Given the description of an element on the screen output the (x, y) to click on. 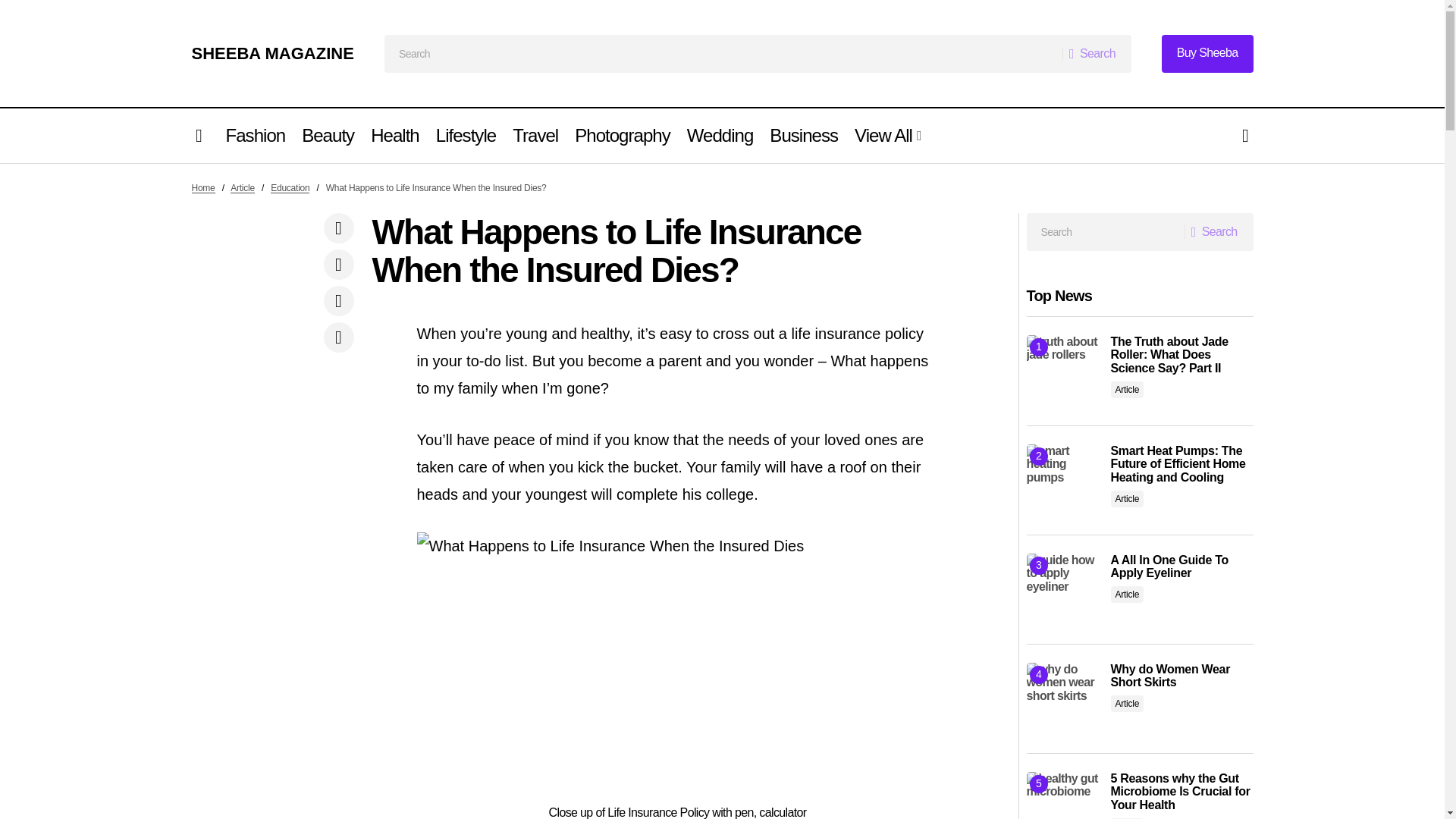
Share in Telegram (338, 300)
Share in Twitter (338, 264)
Share on Facebook (338, 227)
Copy linkCopy link (338, 337)
